Given the description of an element on the screen output the (x, y) to click on. 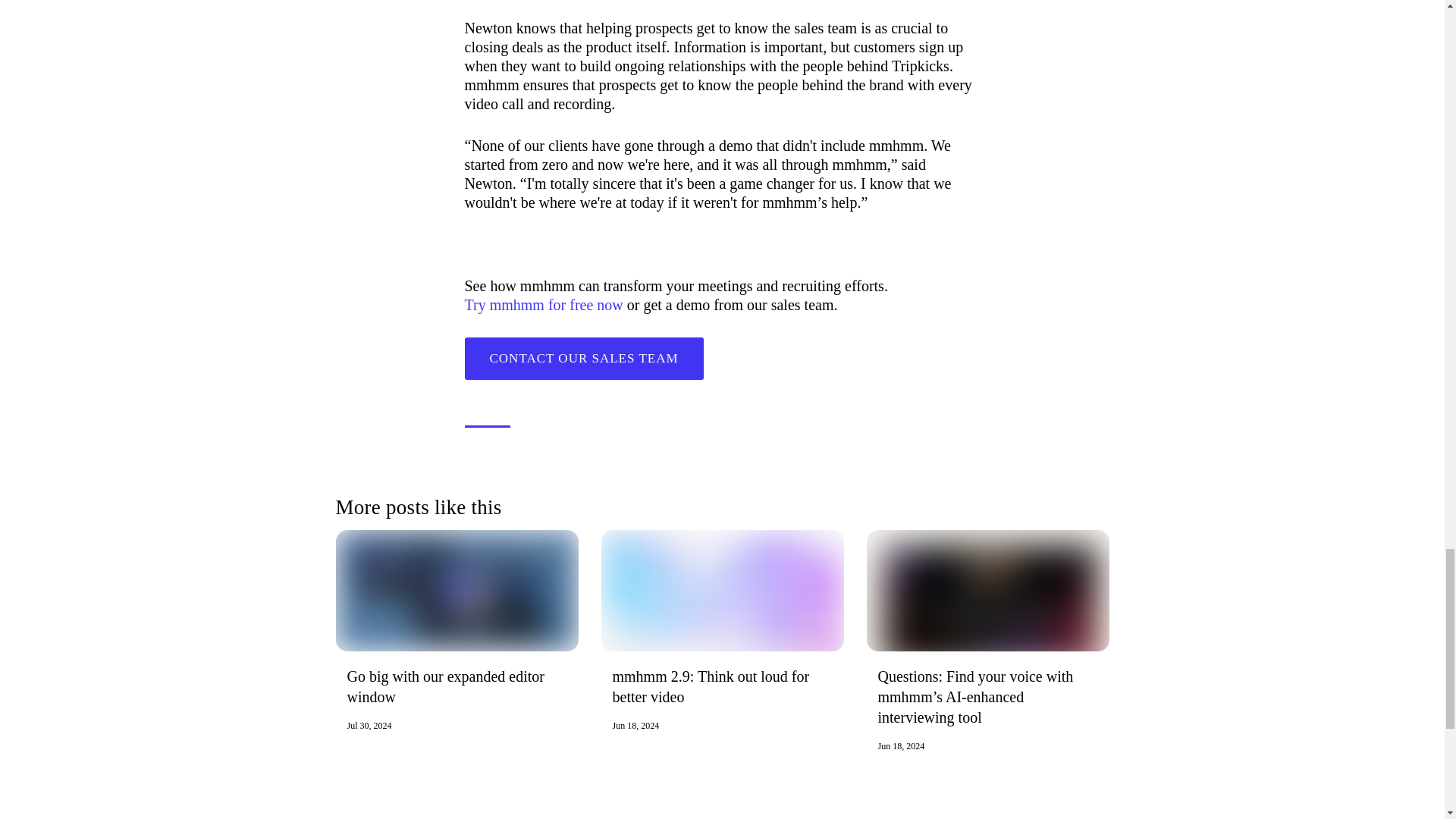
CONTACT OUR SALES TEAM (721, 630)
Try mmhmm for free now (583, 358)
